Given the description of an element on the screen output the (x, y) to click on. 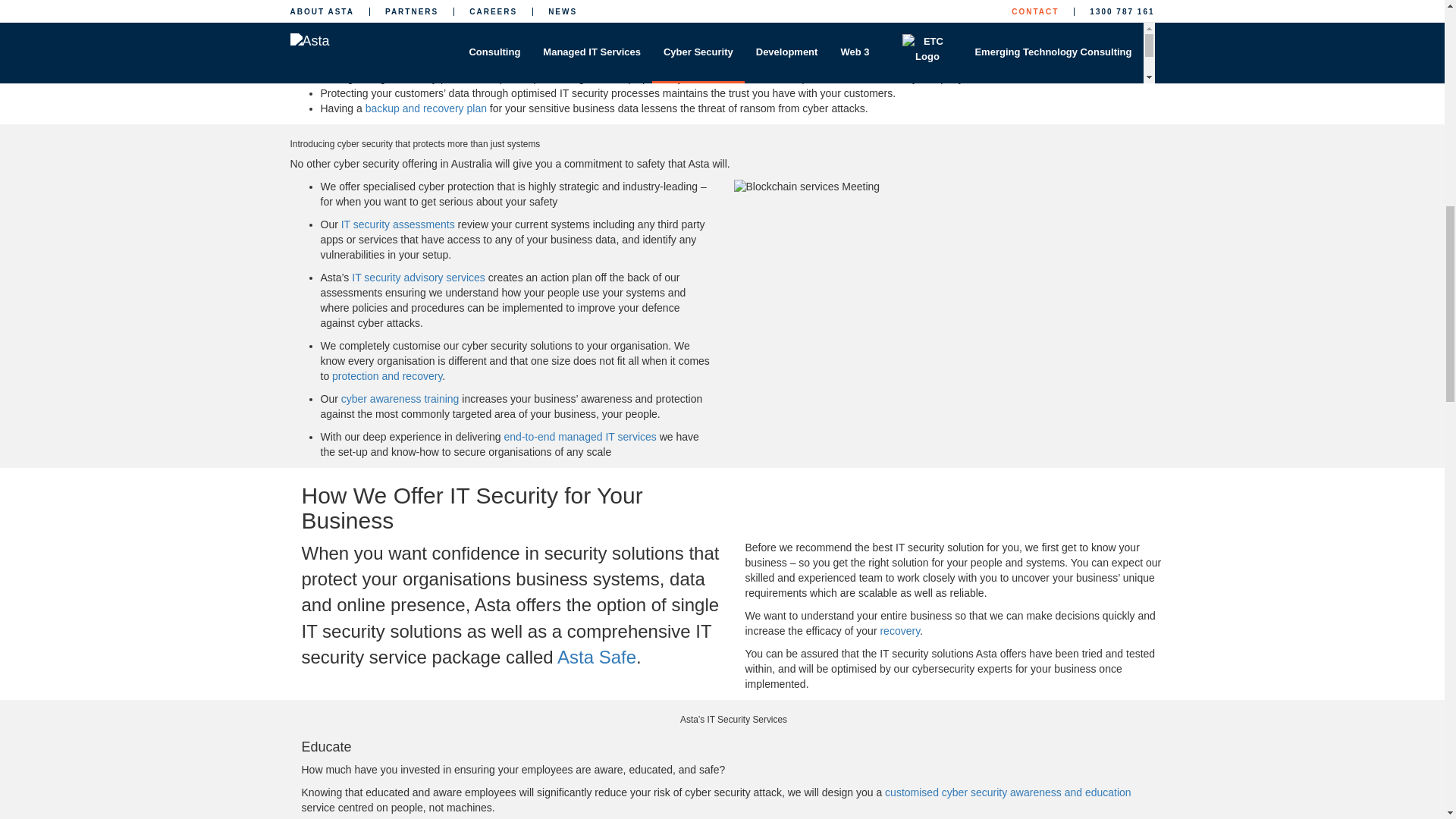
Asta Cyber Attack Recovery Planning and Consulting (386, 376)
Asta Managed IT Solutions and Consulting (579, 436)
Asta Cyber Security Awareness Training Courses (400, 398)
Asta Customsed Cyber Security Awareness Training Courses (1008, 792)
Asta IT Network Security Monitoring (418, 277)
